Given the description of an element on the screen output the (x, y) to click on. 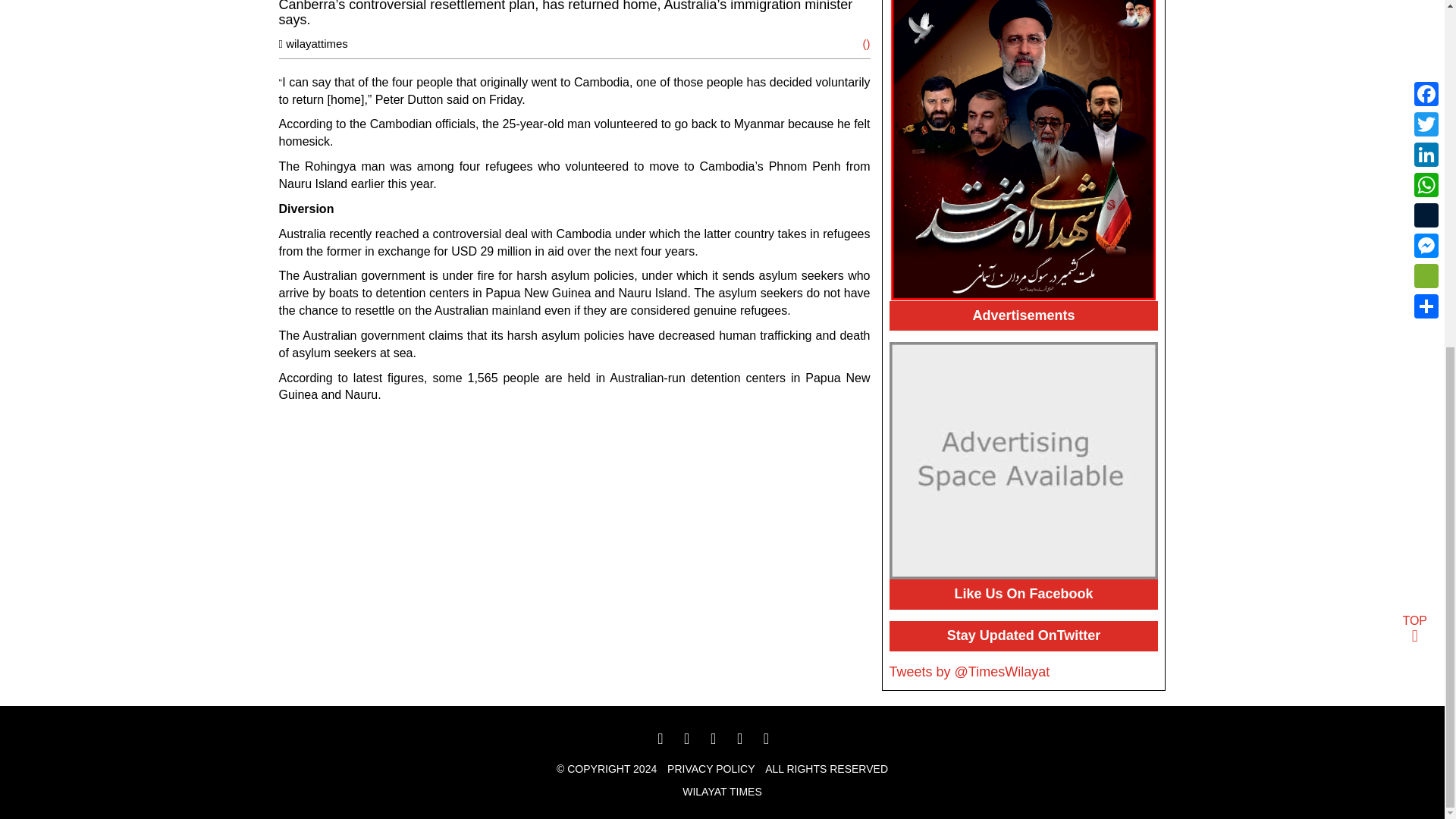
PRIVACY POLICY (710, 768)
youtube (750, 739)
Kashmir Glacier E-paper (1022, 150)
Facebook (674, 739)
Twitter (695, 739)
google plus (722, 739)
linkedin (776, 739)
